Given the description of an element on the screen output the (x, y) to click on. 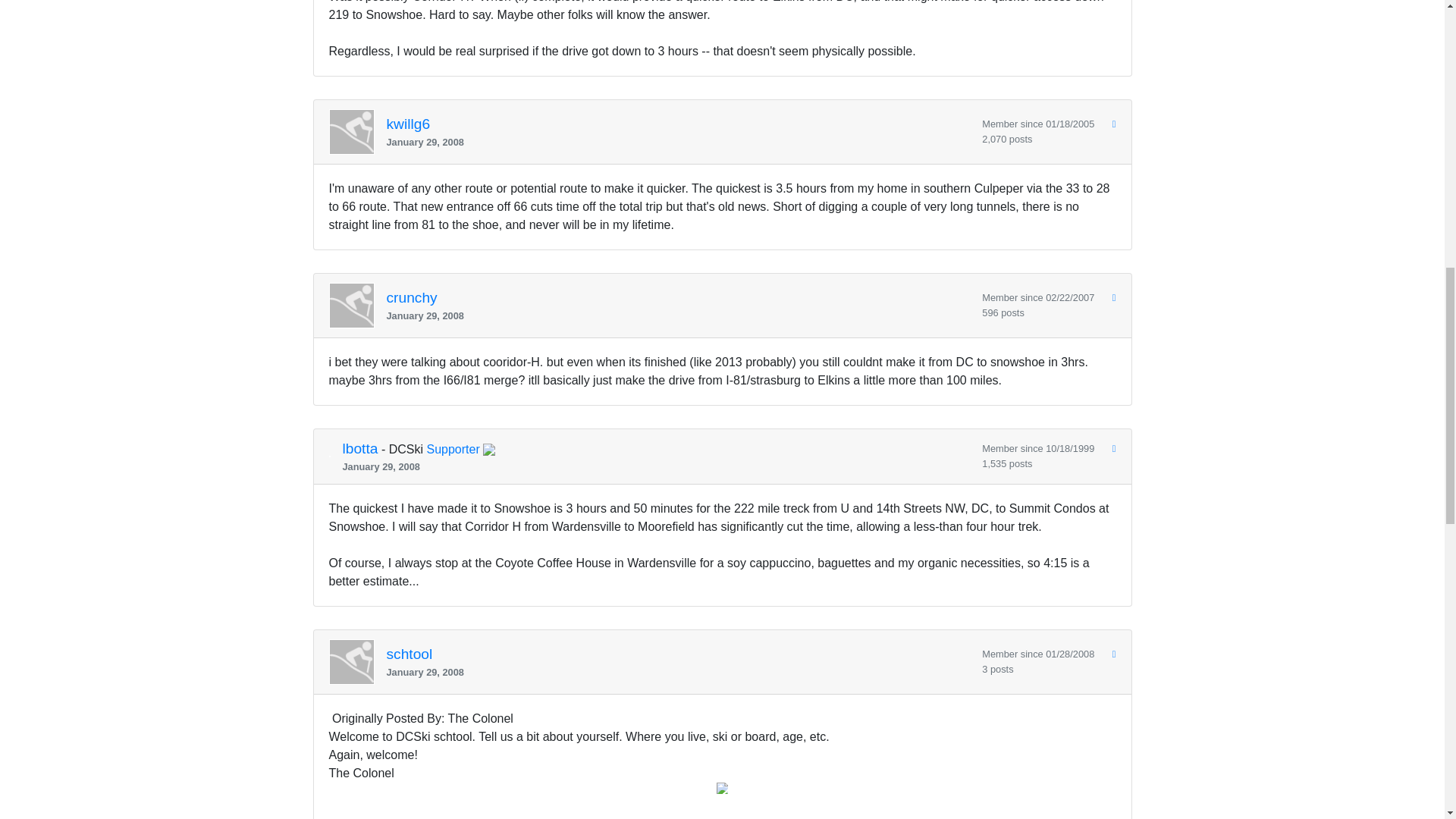
lbotta (360, 449)
kwillg6 (408, 124)
January 29, 2008 at 07:45 pm (679, 672)
smile (722, 787)
crunchy (412, 297)
January 29, 2008 at 09:57 am (679, 142)
January 29, 2008 at 11:33 am (679, 315)
January 29, 2008 at 01:27 pm (656, 466)
Supporter (452, 449)
